Given the description of an element on the screen output the (x, y) to click on. 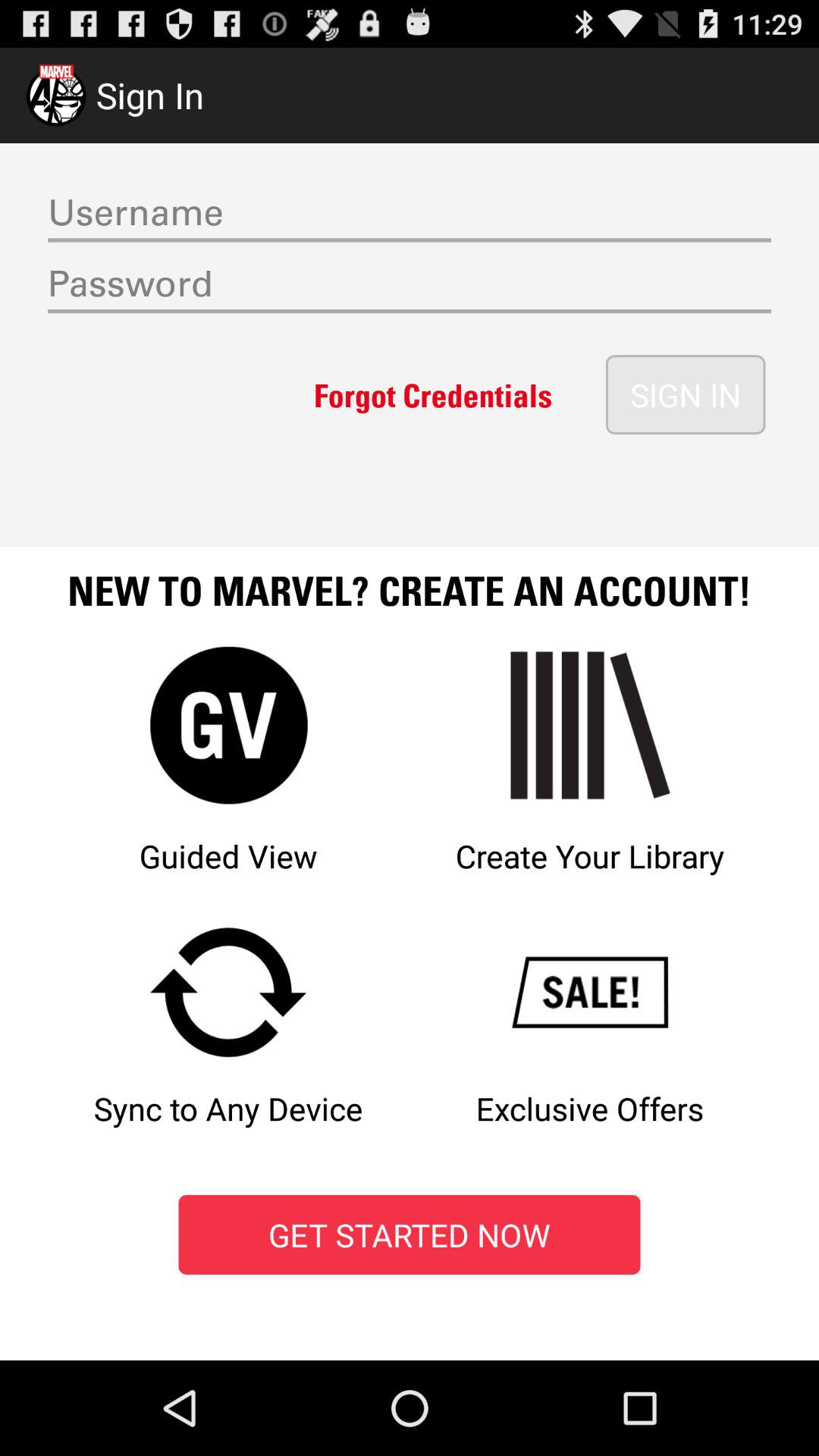
click red color box (409, 1234)
click on text sync to any device (228, 1042)
choose the option representing password (409, 287)
option left to the text create your library (228, 776)
